Given the description of an element on the screen output the (x, y) to click on. 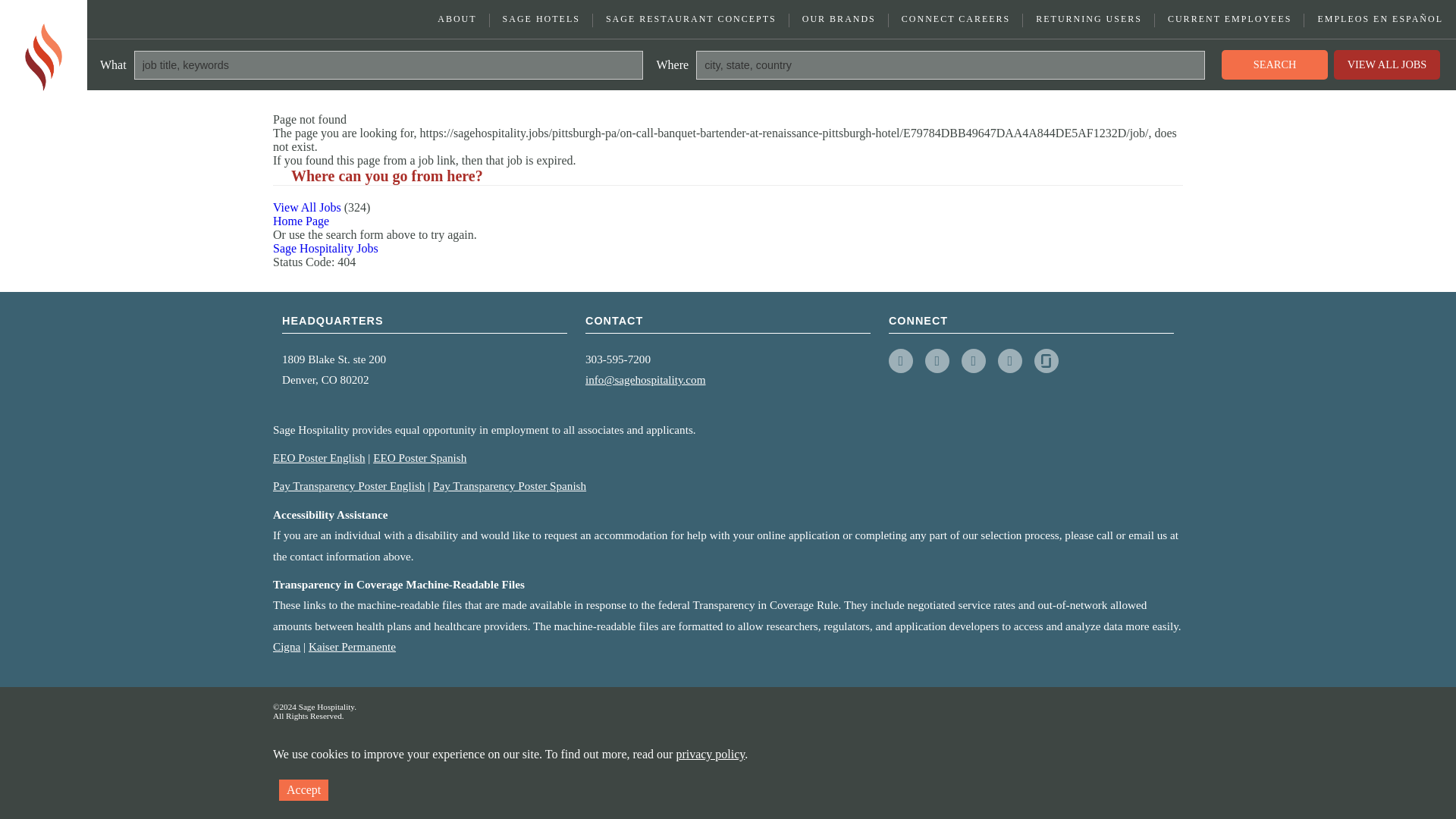
instagram (972, 360)
OUR BRANDS (838, 19)
Search (1274, 64)
ABOUT (457, 19)
Sage Hospitality Jobs (325, 247)
facebook (900, 360)
SAGE RESTAURANT CONCEPTS (690, 19)
ABOUT (378, 739)
CURRENT EMPLOYEES (1229, 19)
Search Phrase (388, 63)
